Given the description of an element on the screen output the (x, y) to click on. 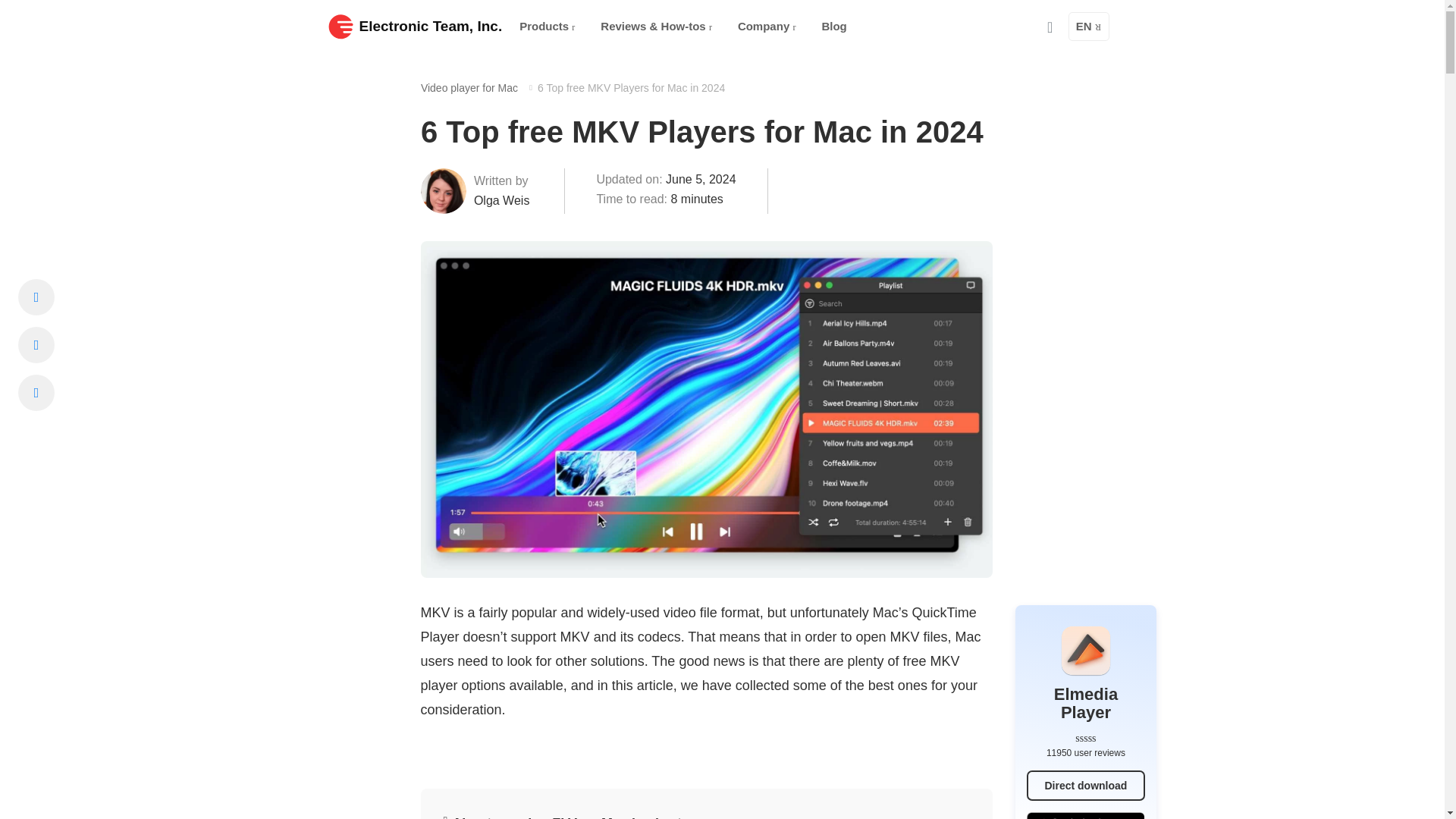
Blog (834, 26)
EN (1088, 26)
Blog (834, 26)
Company (767, 26)
Products (547, 26)
Electronic Team, Inc. (414, 25)
